Given the description of an element on the screen output the (x, y) to click on. 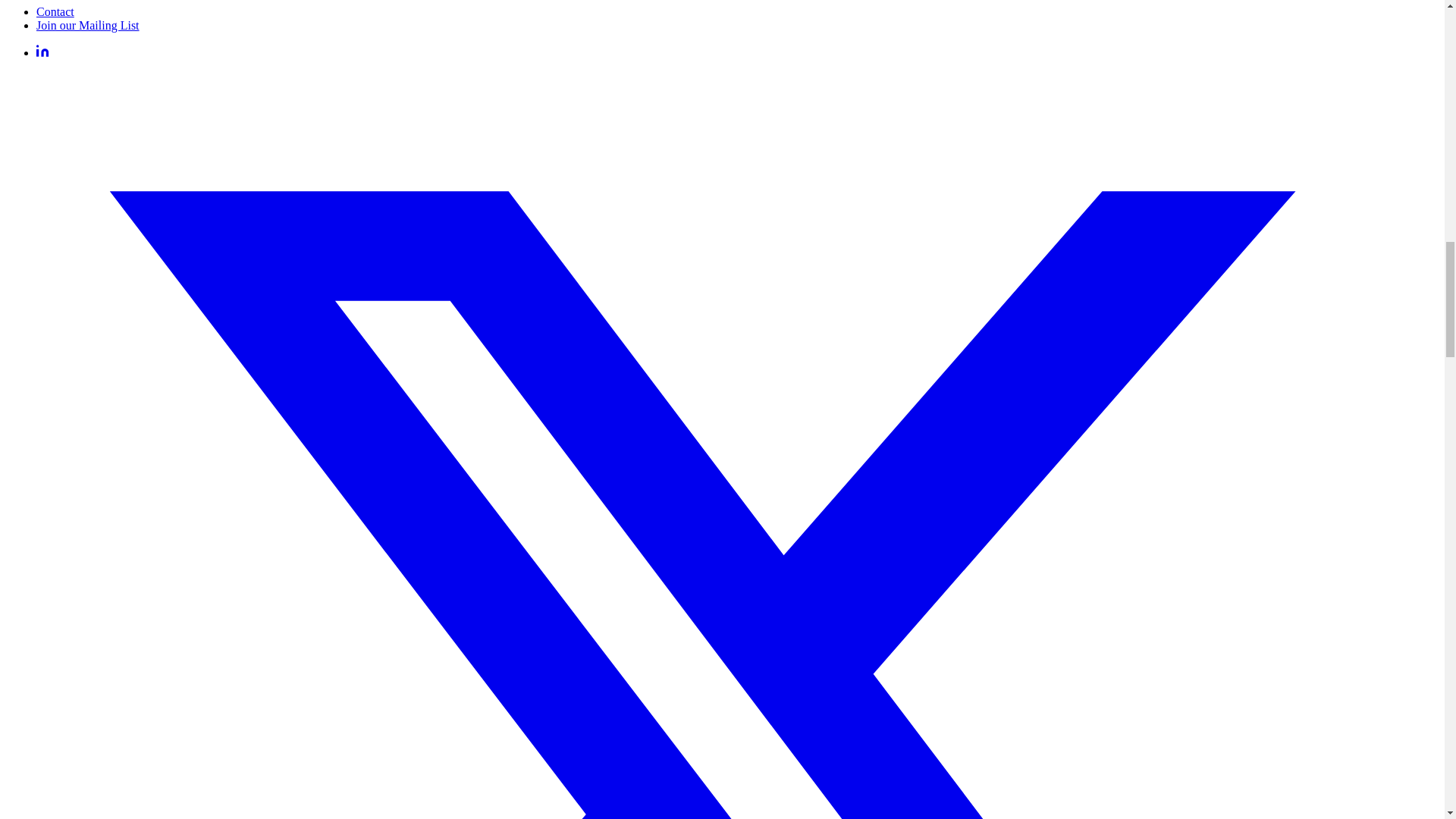
Contact (55, 11)
linkedin (42, 51)
Join our Mailing List (87, 24)
